Given the description of an element on the screen output the (x, y) to click on. 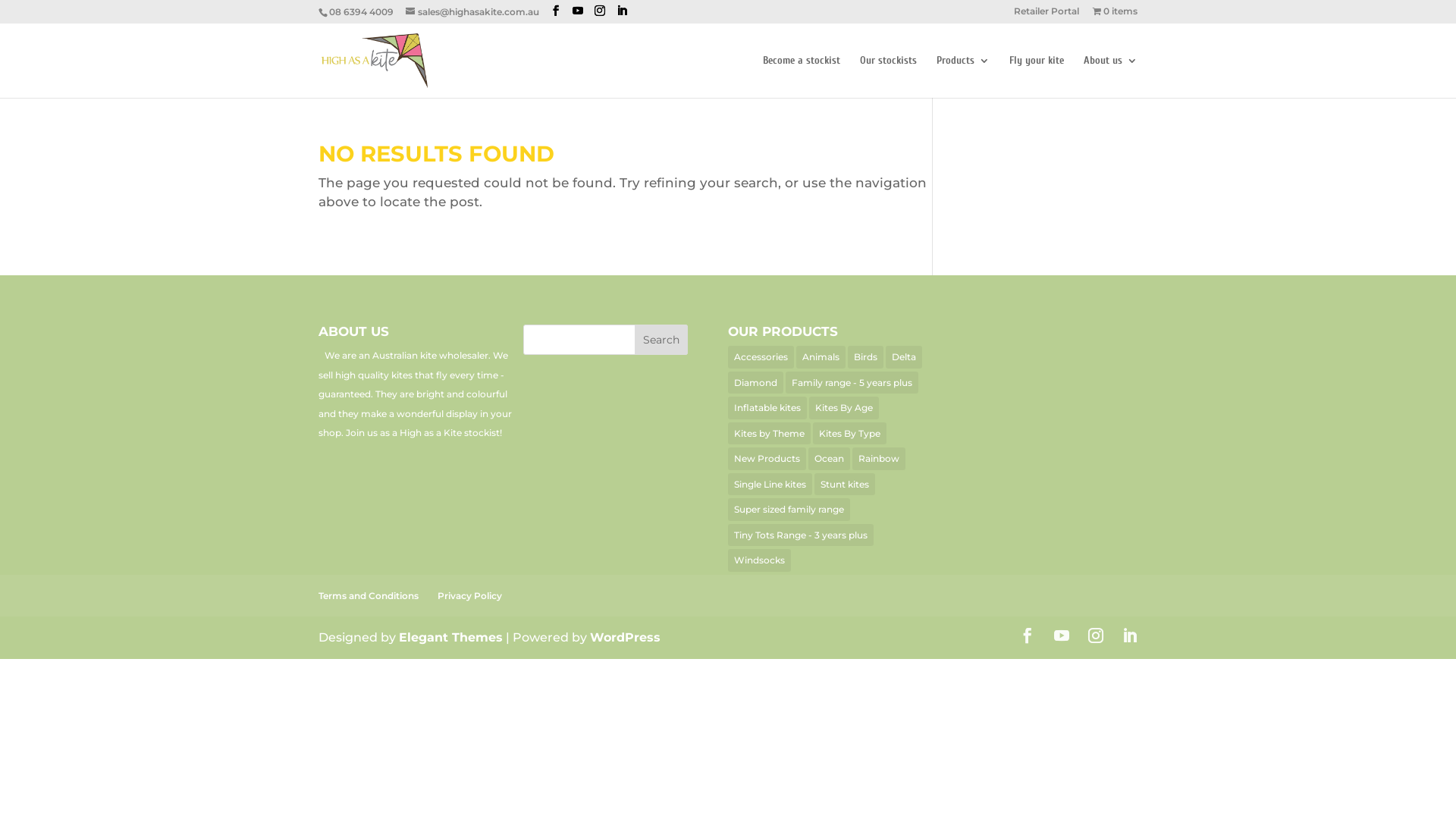
Privacy Policy Element type: text (469, 595)
Animals Element type: text (820, 356)
Single Line kites Element type: text (770, 484)
Retailer Portal Element type: text (1046, 14)
Our stockists Element type: text (887, 76)
Fly your kite Element type: text (1036, 76)
0 items Element type: text (1114, 14)
New Products Element type: text (767, 458)
Become a stockist Element type: text (801, 76)
Birds Element type: text (865, 356)
sales@highasakite.com.au Element type: text (472, 11)
Search Element type: text (660, 339)
Inflatable kites Element type: text (767, 407)
Super sized family range Element type: text (789, 509)
Stunt kites Element type: text (844, 484)
Kites by Theme Element type: text (769, 433)
Windsocks Element type: text (759, 560)
Terms and Conditions Element type: text (368, 595)
Diamond Element type: text (755, 382)
Accessories Element type: text (760, 356)
Kites By Age Element type: text (843, 407)
Tiny Tots Range - 3 years plus Element type: text (800, 535)
WordPress Element type: text (624, 637)
Delta Element type: text (903, 356)
Products Element type: text (962, 76)
About us Element type: text (1110, 76)
Elegant Themes Element type: text (450, 637)
Family range - 5 years plus Element type: text (851, 382)
Kites By Type Element type: text (849, 433)
Ocean Element type: text (829, 458)
Rainbow Element type: text (878, 458)
